Given the description of an element on the screen output the (x, y) to click on. 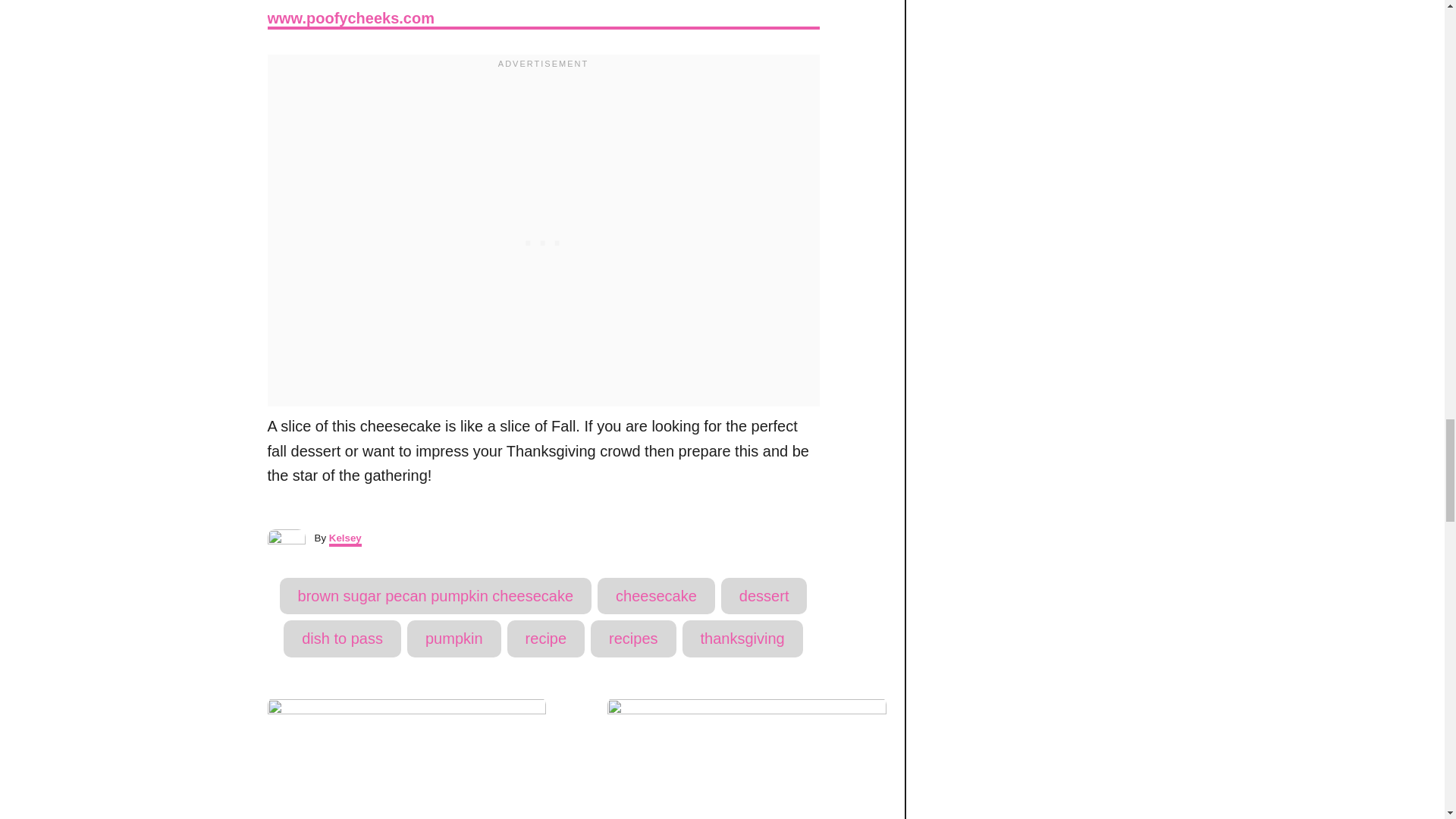
pumpkin (453, 638)
dessert (764, 596)
Kelsey (345, 539)
Brown Sugar Pecan Pumpkin Cheesecake -- www.poofycheeks.com (542, 16)
recipe (545, 638)
dish to pass (342, 638)
cheesecake (655, 596)
brown sugar pecan pumpkin cheesecake (435, 596)
